Given the description of an element on the screen output the (x, y) to click on. 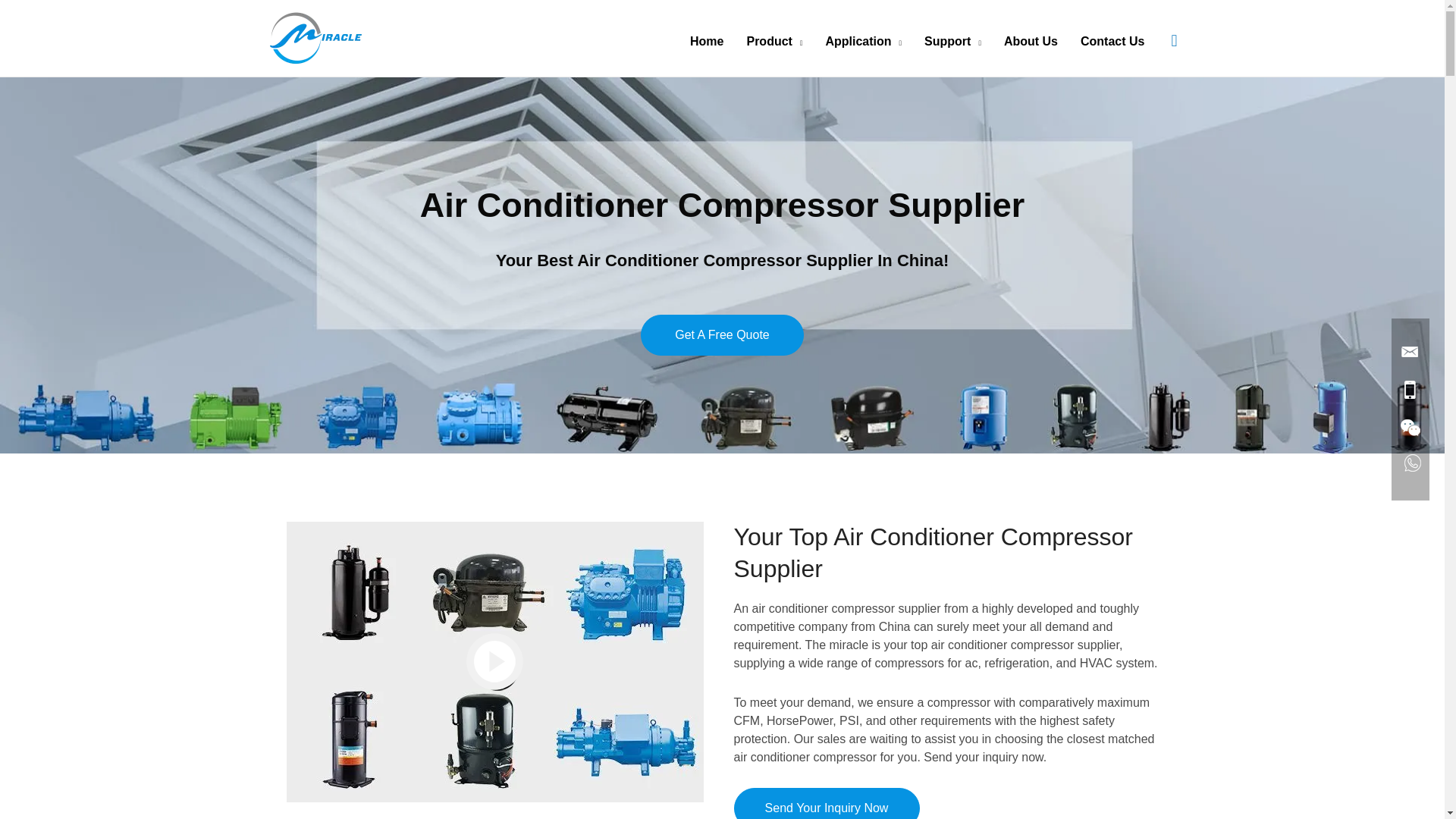
Application (862, 41)
Home (706, 41)
Product (774, 41)
Support (952, 41)
